Given the description of an element on the screen output the (x, y) to click on. 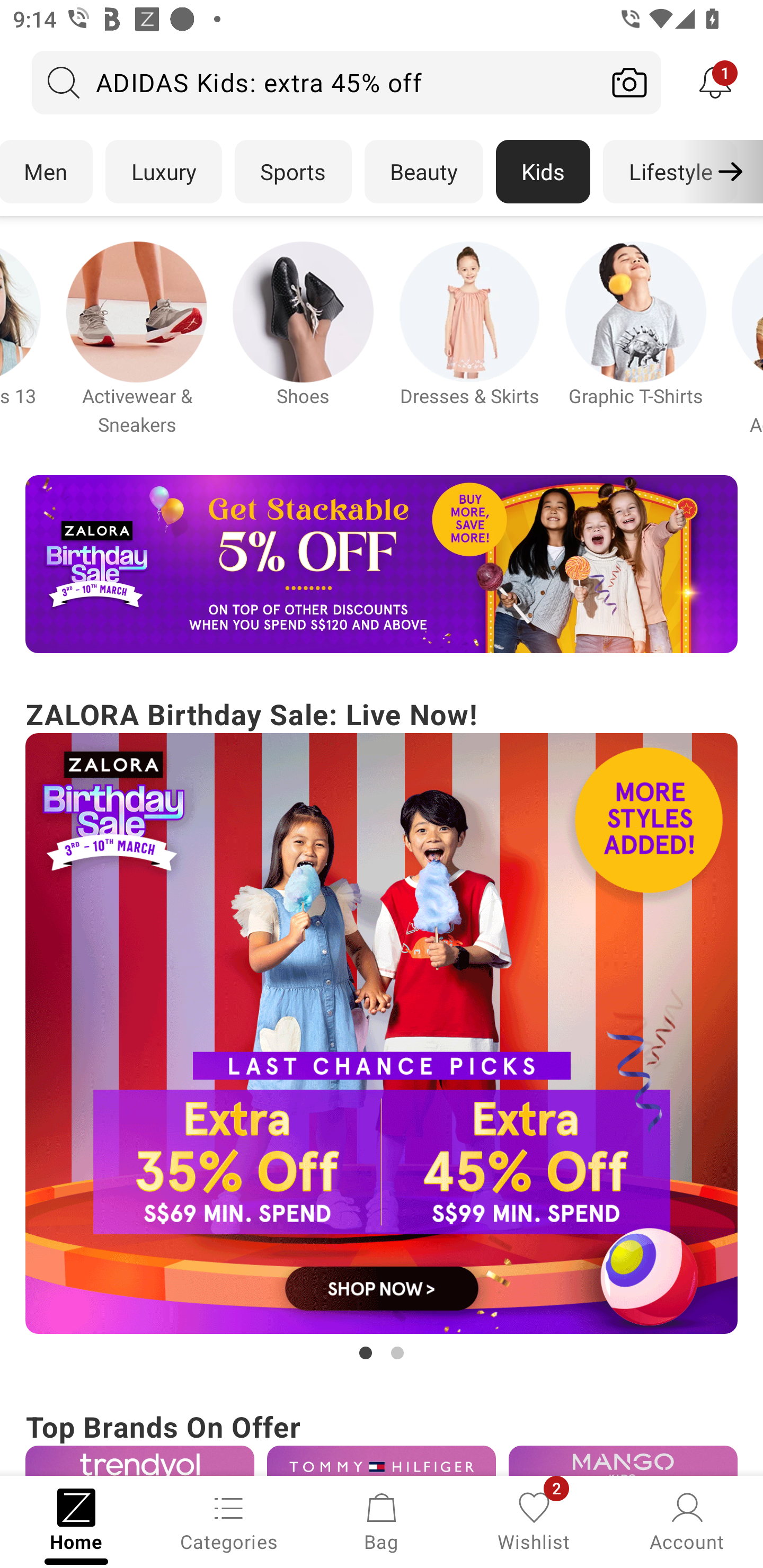
ADIDAS Kids: extra 45% off (314, 82)
Men (46, 171)
Luxury (163, 171)
Sports (293, 171)
Beauty (423, 171)
Kids (542, 171)
Lifestyle (669, 171)
Campaign banner (136, 311)
Campaign banner (302, 311)
Campaign banner (469, 311)
Campaign banner (635, 311)
Campaign banner (381, 564)
ZALORA Birthday Sale: Live Now! Campaign banner (381, 1028)
Campaign banner (381, 1033)
Campaign banner (139, 1460)
Campaign banner (381, 1460)
Campaign banner (622, 1460)
Categories (228, 1519)
Bag (381, 1519)
Wishlist, 2 new notifications Wishlist (533, 1519)
Account (686, 1519)
